Given the description of an element on the screen output the (x, y) to click on. 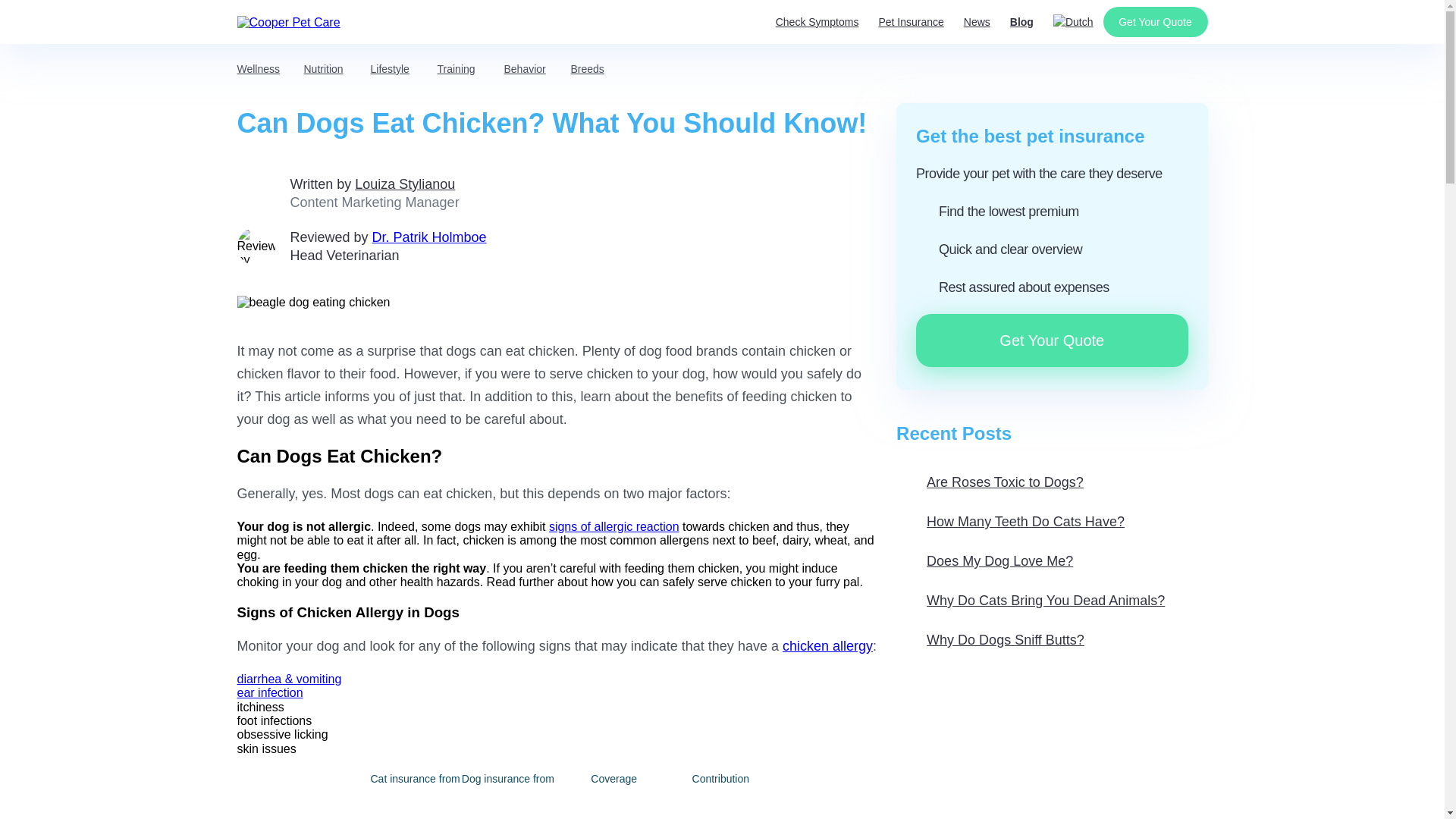
Louiza Stylianou (404, 183)
Why Do Dogs Sniff Butts? (990, 639)
Lifestyle (389, 69)
Pet Insurance (910, 21)
Are Roses Toxic to Dogs? (989, 482)
Wellness (257, 69)
Training (455, 69)
Breeds (587, 69)
Dr. Patrik Holmboe (429, 237)
Does My Dog Love Me? (984, 560)
Blog (1021, 21)
Behavior (523, 69)
Show all posts reviewed by this vet (429, 237)
chicken allergy (827, 645)
Why Do Cats Bring You Dead Animals? (1030, 600)
